Given the description of an element on the screen output the (x, y) to click on. 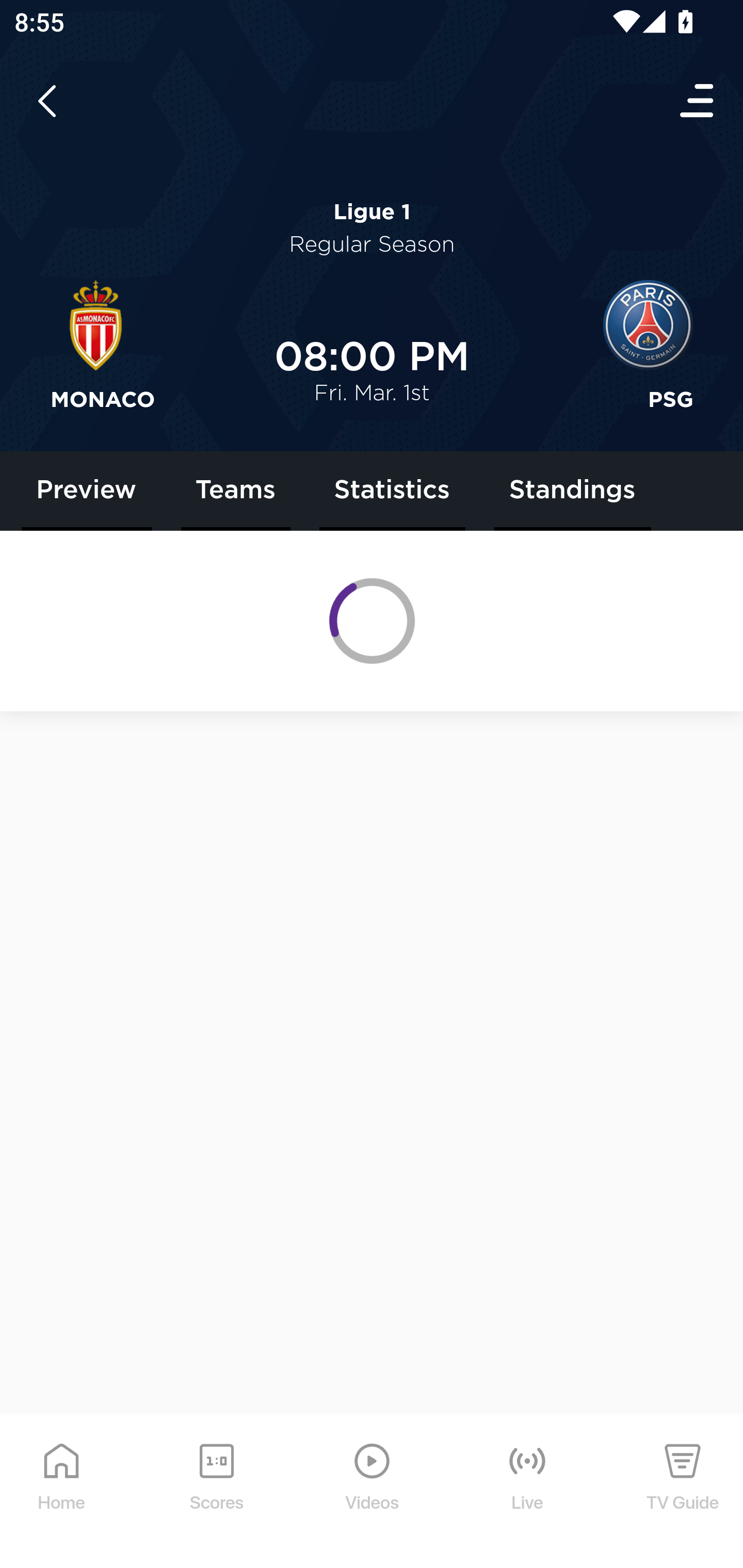
icon back (46, 101)
Open Menu Icon (697, 101)
Preview (87, 490)
Teams (236, 490)
Statistics (391, 490)
Standings (571, 490)
Home Home Icon Home (61, 1491)
Scores Scores Icon Scores (216, 1491)
Videos Videos Icon Videos (372, 1491)
TV Guide TV Guide Icon TV Guide (682, 1491)
